Given the description of an element on the screen output the (x, y) to click on. 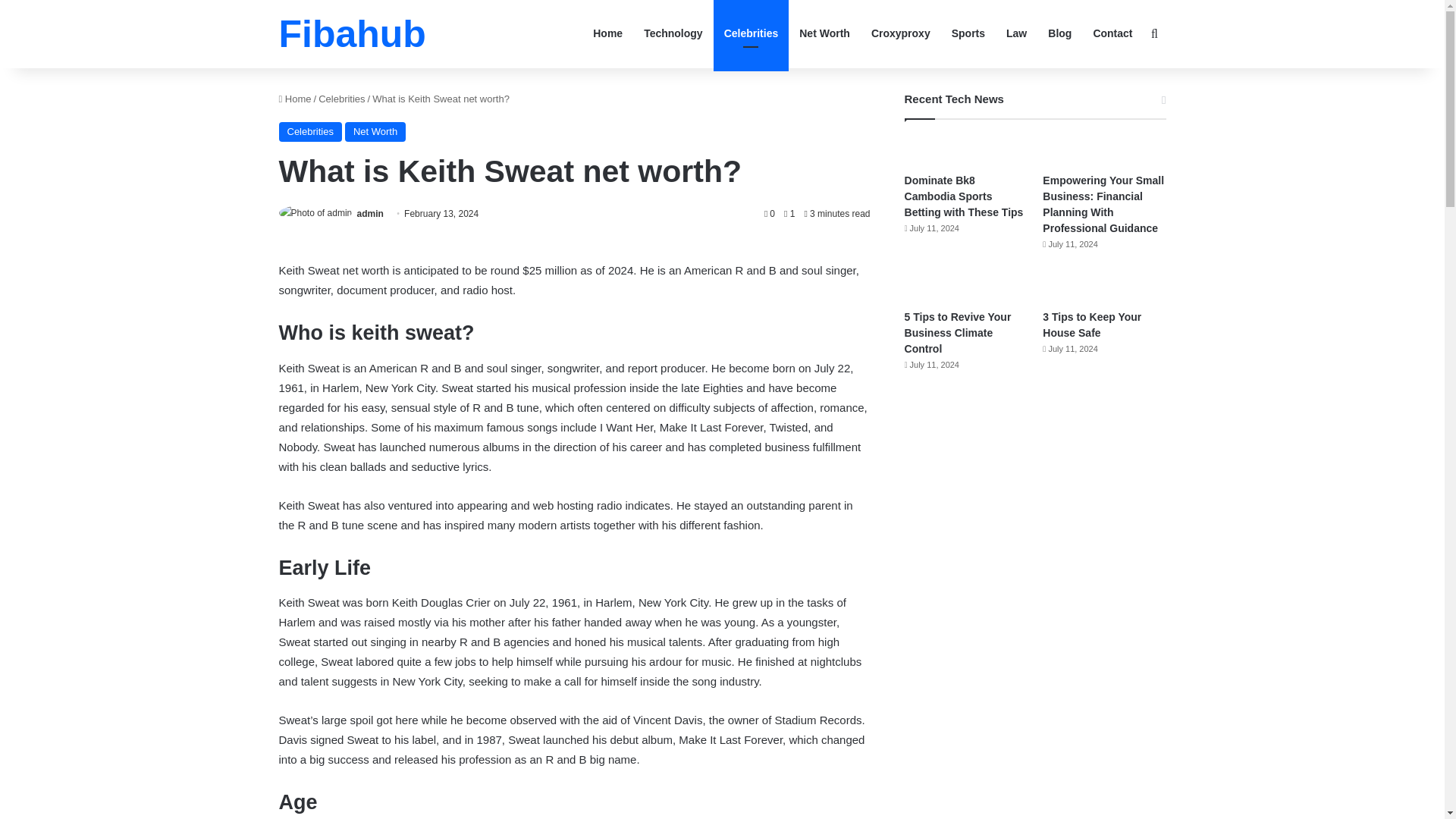
Celebrities (310, 131)
Celebrities (341, 98)
Croxyproxy (900, 33)
admin (370, 213)
Net Worth (375, 131)
Net Worth (824, 33)
Celebrities (751, 33)
Fibahub (352, 34)
Technology (673, 33)
Home (295, 98)
